Given the description of an element on the screen output the (x, y) to click on. 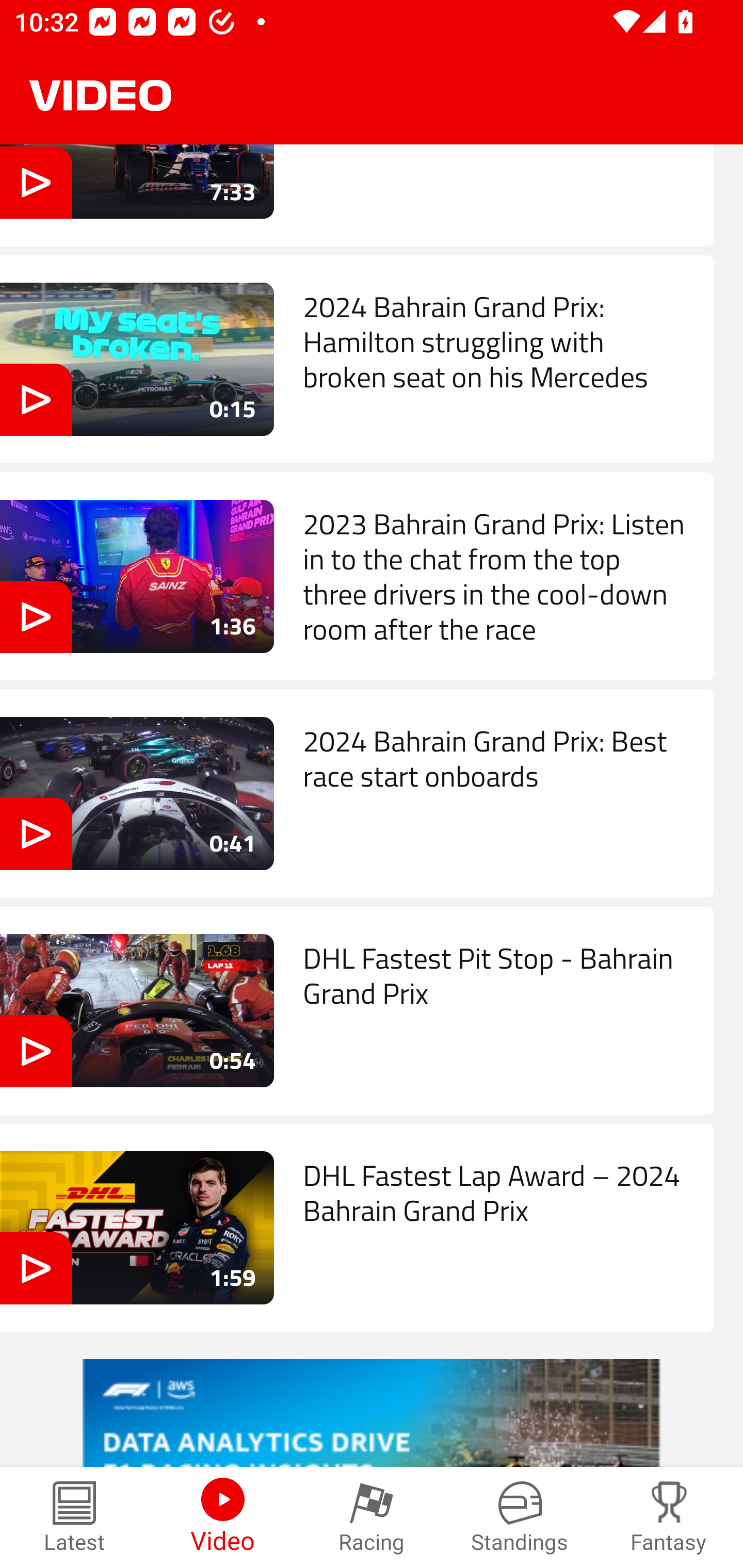
0:54 DHL Fastest Pit Stop - Bahrain Grand Prix (357, 1010)
Latest (74, 1517)
Racing (371, 1517)
Standings (519, 1517)
Fantasy (668, 1517)
